Given the description of an element on the screen output the (x, y) to click on. 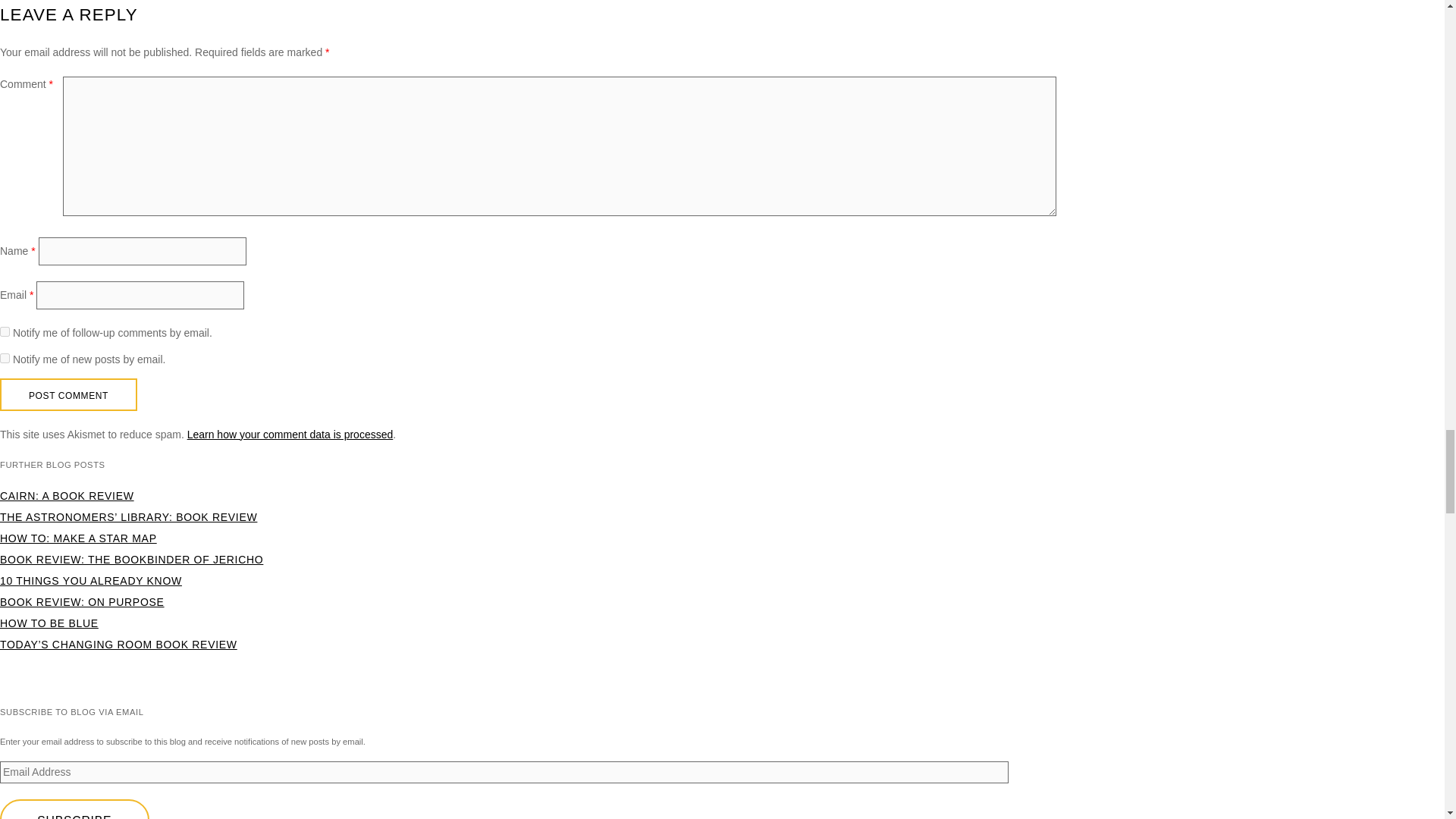
subscribe (5, 331)
Post Comment (68, 394)
subscribe (5, 357)
